Given the description of an element on the screen output the (x, y) to click on. 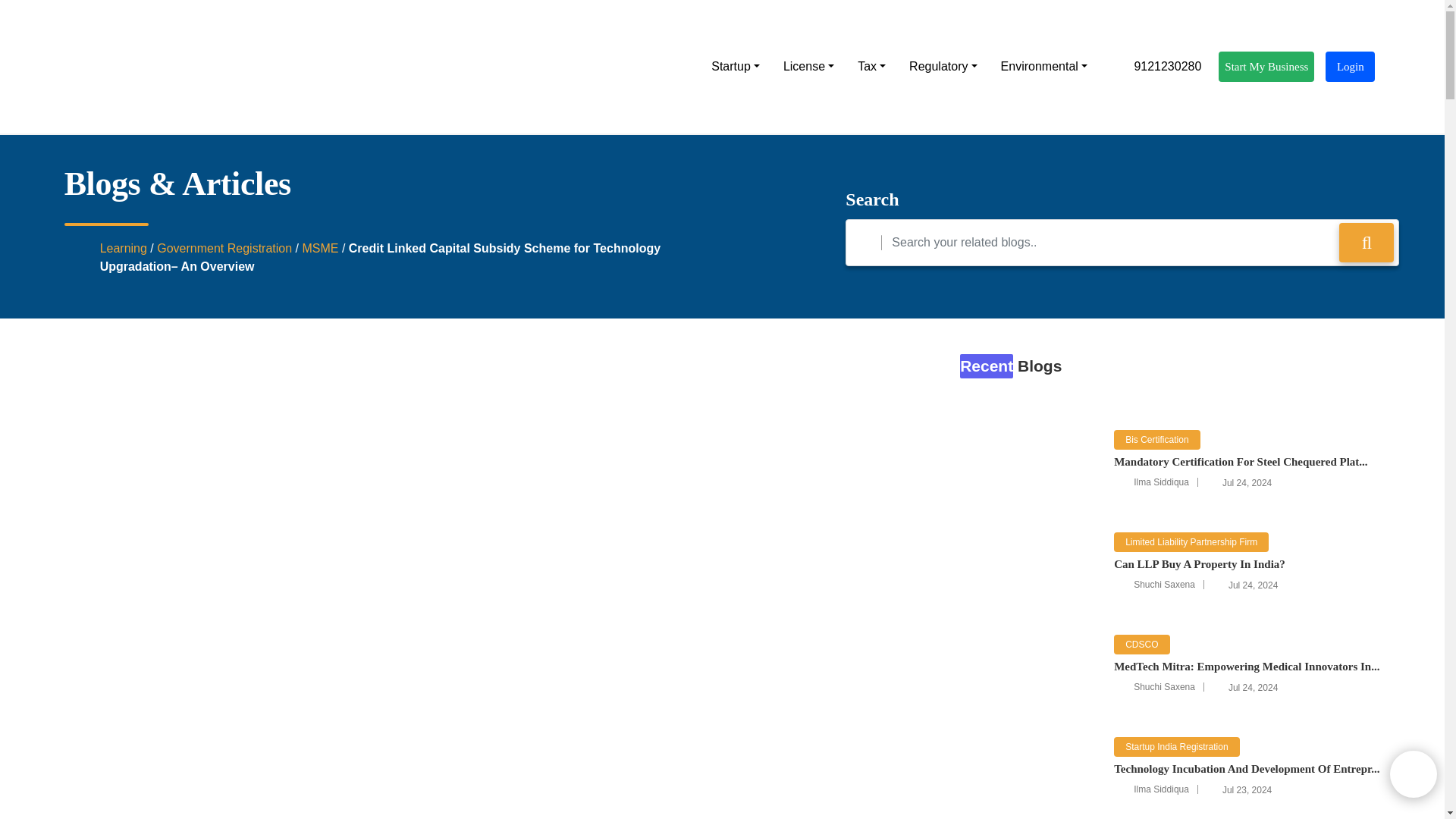
Startup (734, 66)
Posts by Ilma Siddiqua (1161, 481)
